Given the description of an element on the screen output the (x, y) to click on. 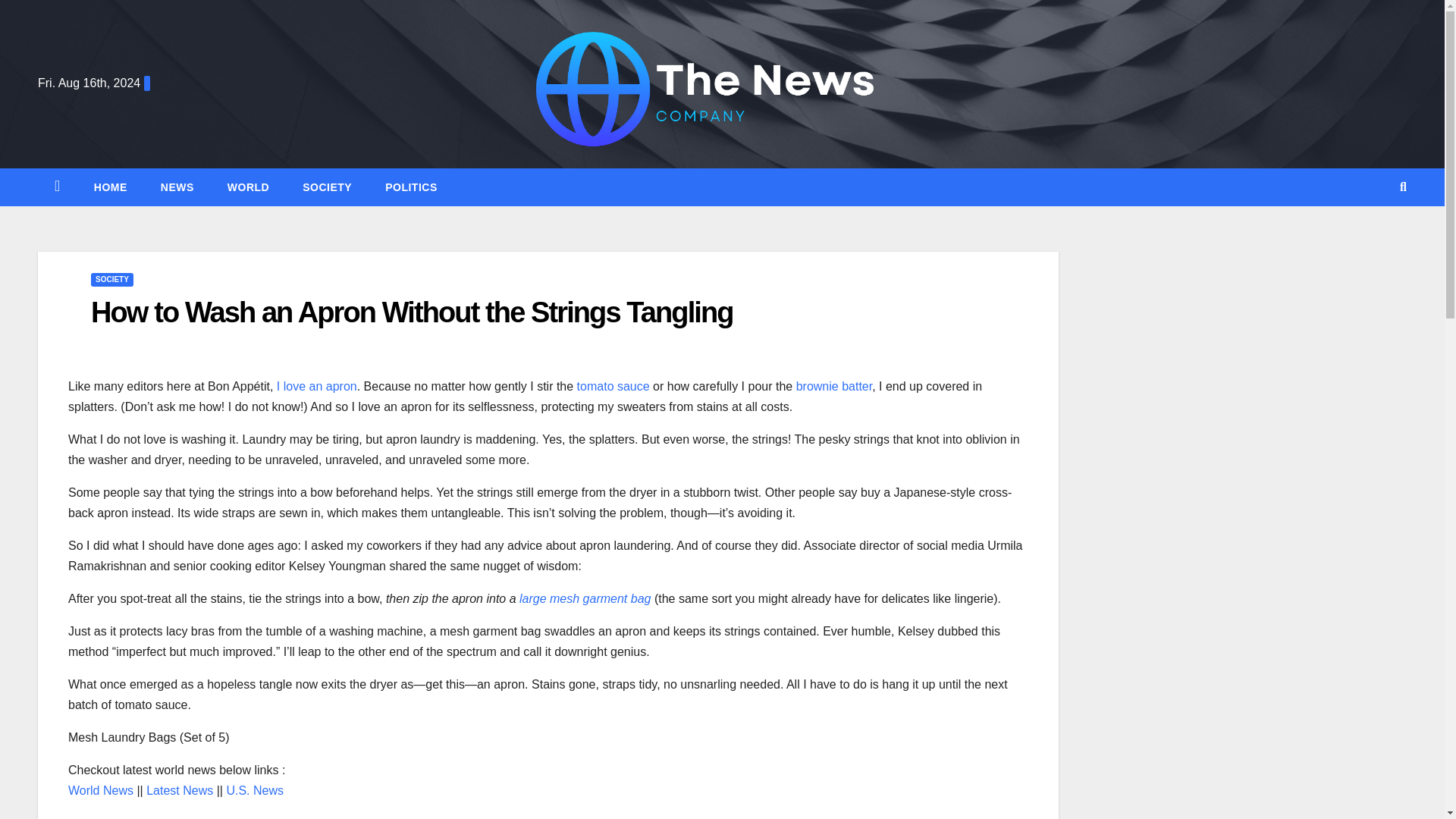
News (177, 187)
Latest News (179, 789)
SOCIETY (111, 279)
I love an apron (316, 386)
large mesh garment bag (584, 598)
POLITICS (411, 187)
WORLD (248, 187)
HOME (110, 187)
Politics (411, 187)
